Given the description of an element on the screen output the (x, y) to click on. 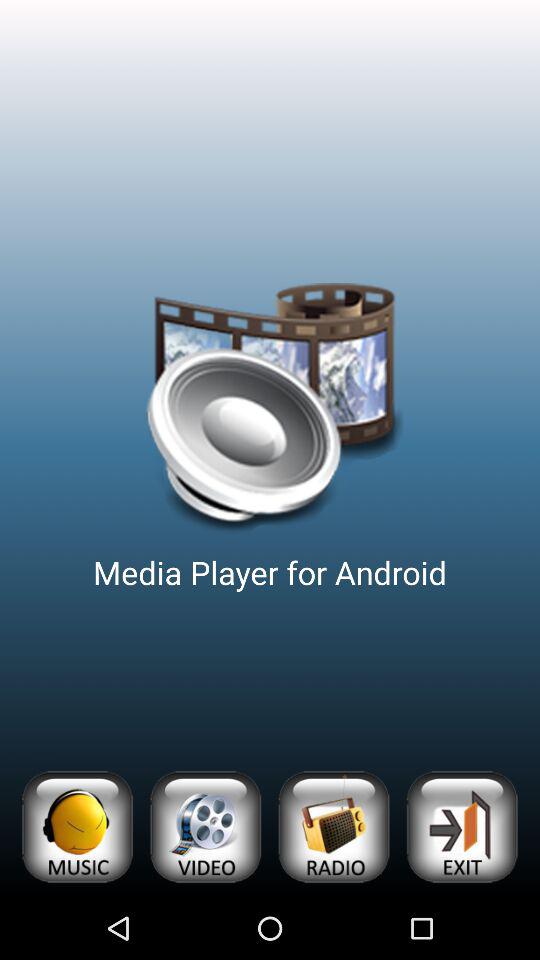
launch app below the media player for (205, 826)
